Given the description of an element on the screen output the (x, y) to click on. 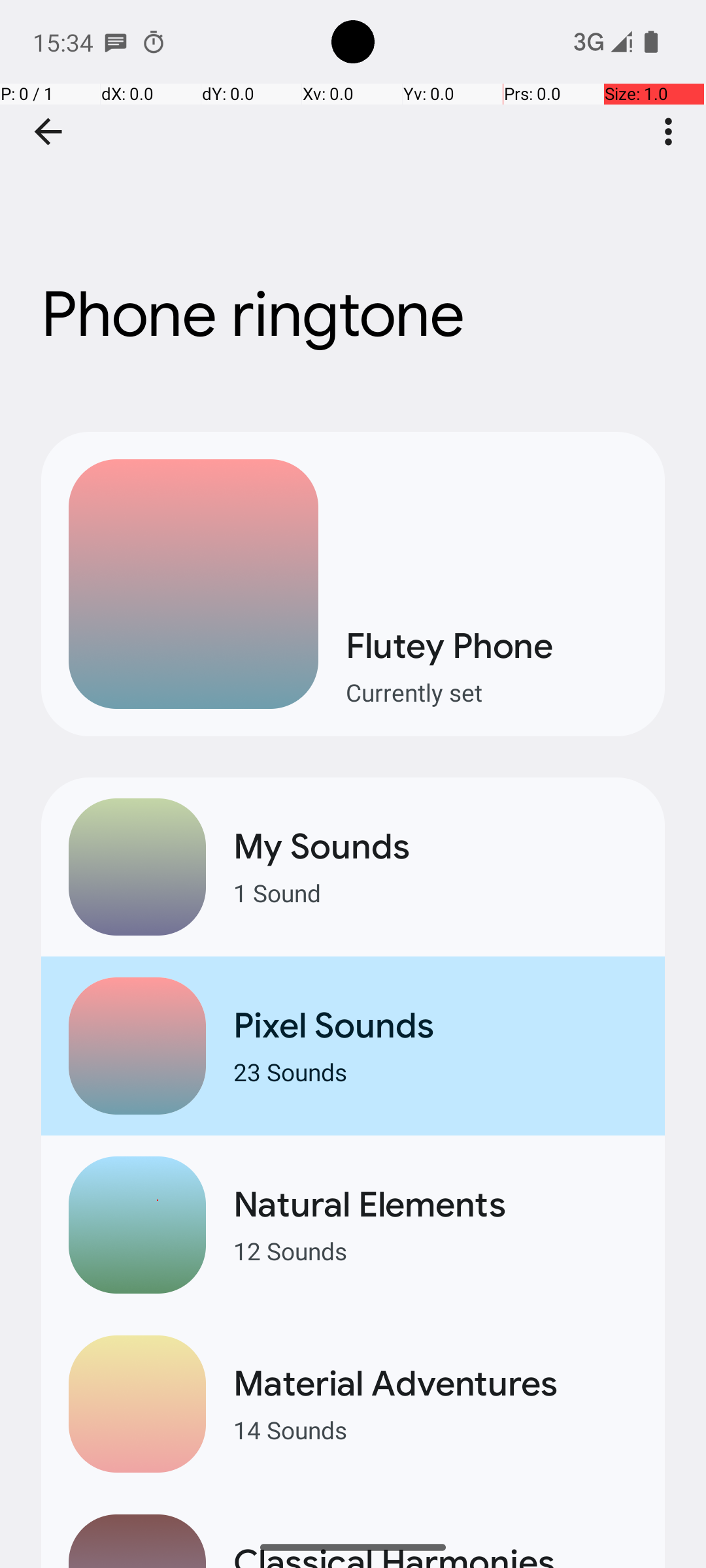
Currently set Element type: android.widget.TextView (491, 691)
1 Sound Element type: android.widget.TextView (435, 892)
